Given the description of an element on the screen output the (x, y) to click on. 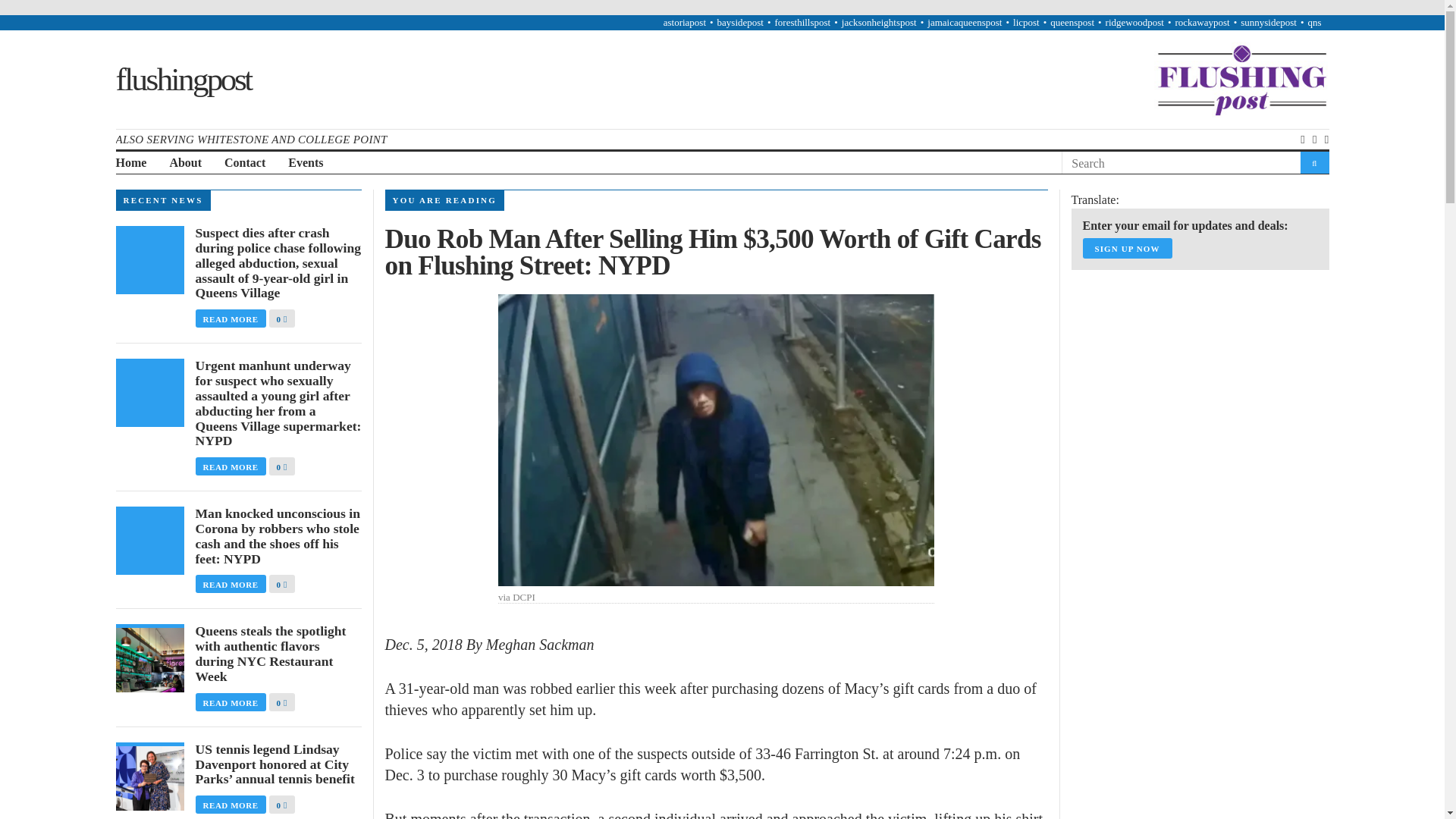
foresthillspost (802, 21)
queenspost (1071, 21)
licpost (1026, 21)
rockawaypost (1201, 21)
Contact (244, 163)
flushingpost (182, 78)
qns (1313, 21)
baysidepost (739, 21)
jamaicaqueenspost (964, 21)
Home (131, 163)
